Given the description of an element on the screen output the (x, y) to click on. 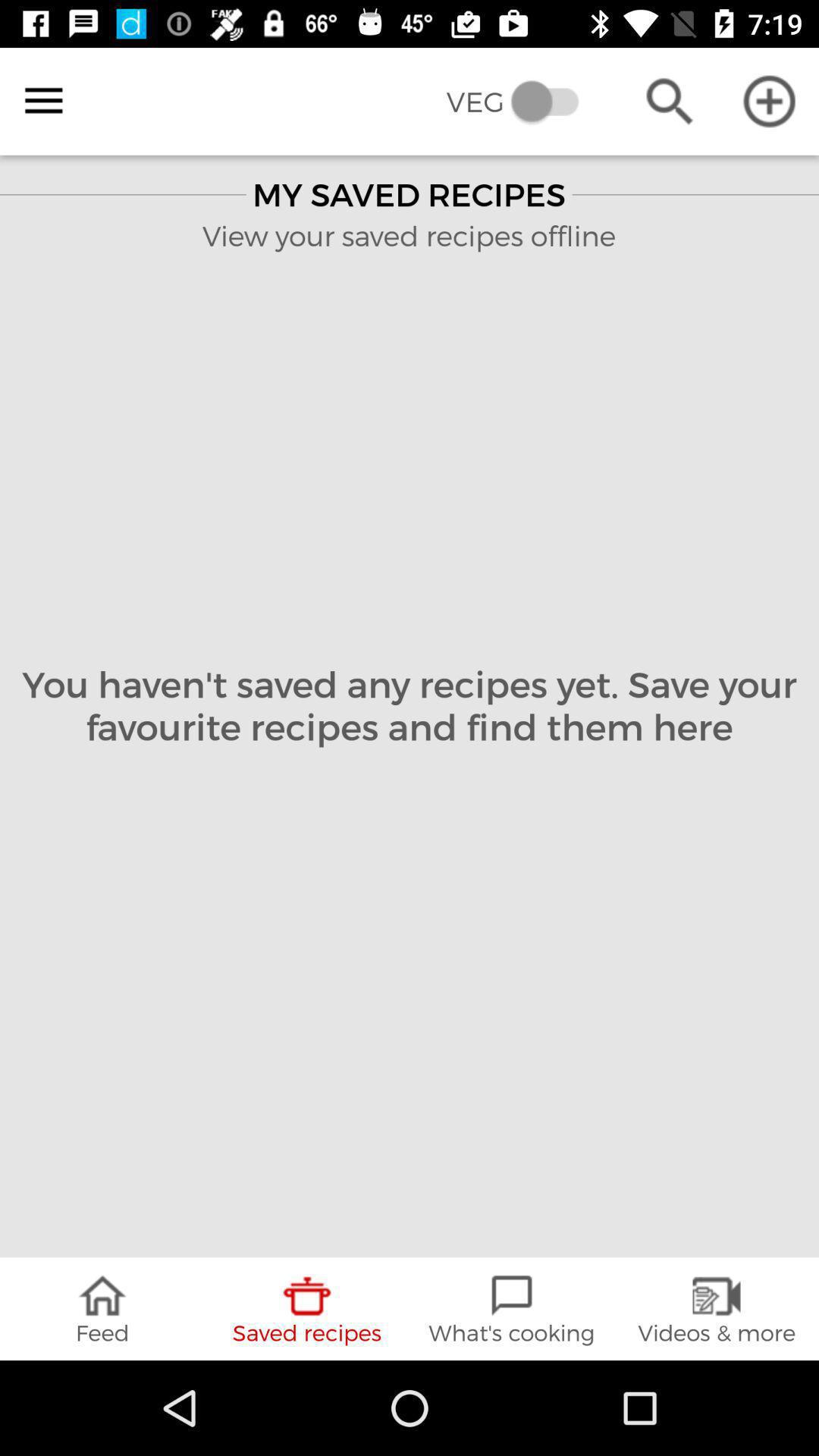
turn on item below you haven t icon (511, 1308)
